Given the description of an element on the screen output the (x, y) to click on. 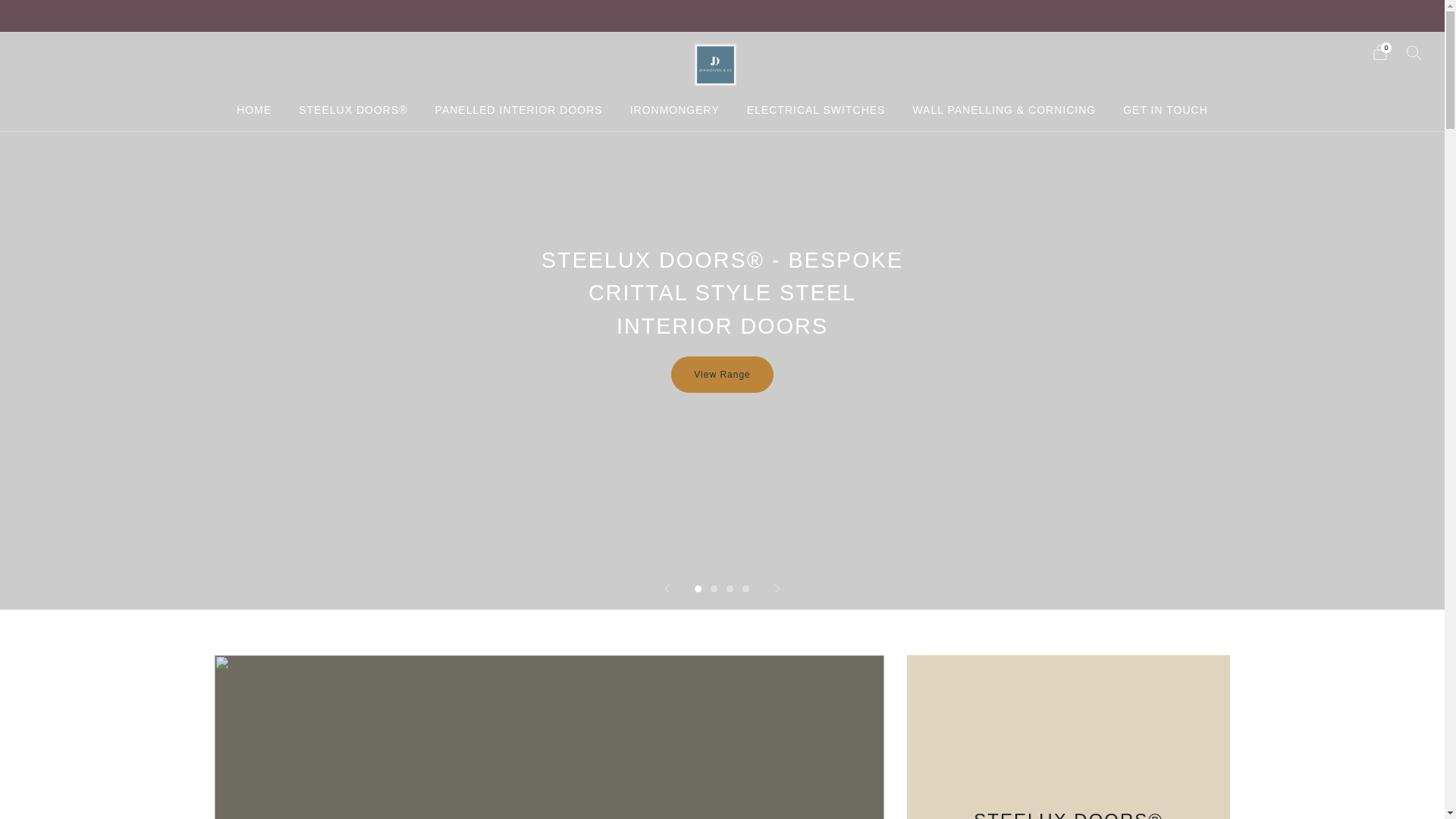
ELECTRICAL SWITCHES (815, 109)
IRONMONGERY (674, 109)
PANELLED INTERIOR DOORS (518, 109)
HOME (252, 109)
0 (1380, 52)
GET IN TOUCH (1165, 109)
